Given the description of an element on the screen output the (x, y) to click on. 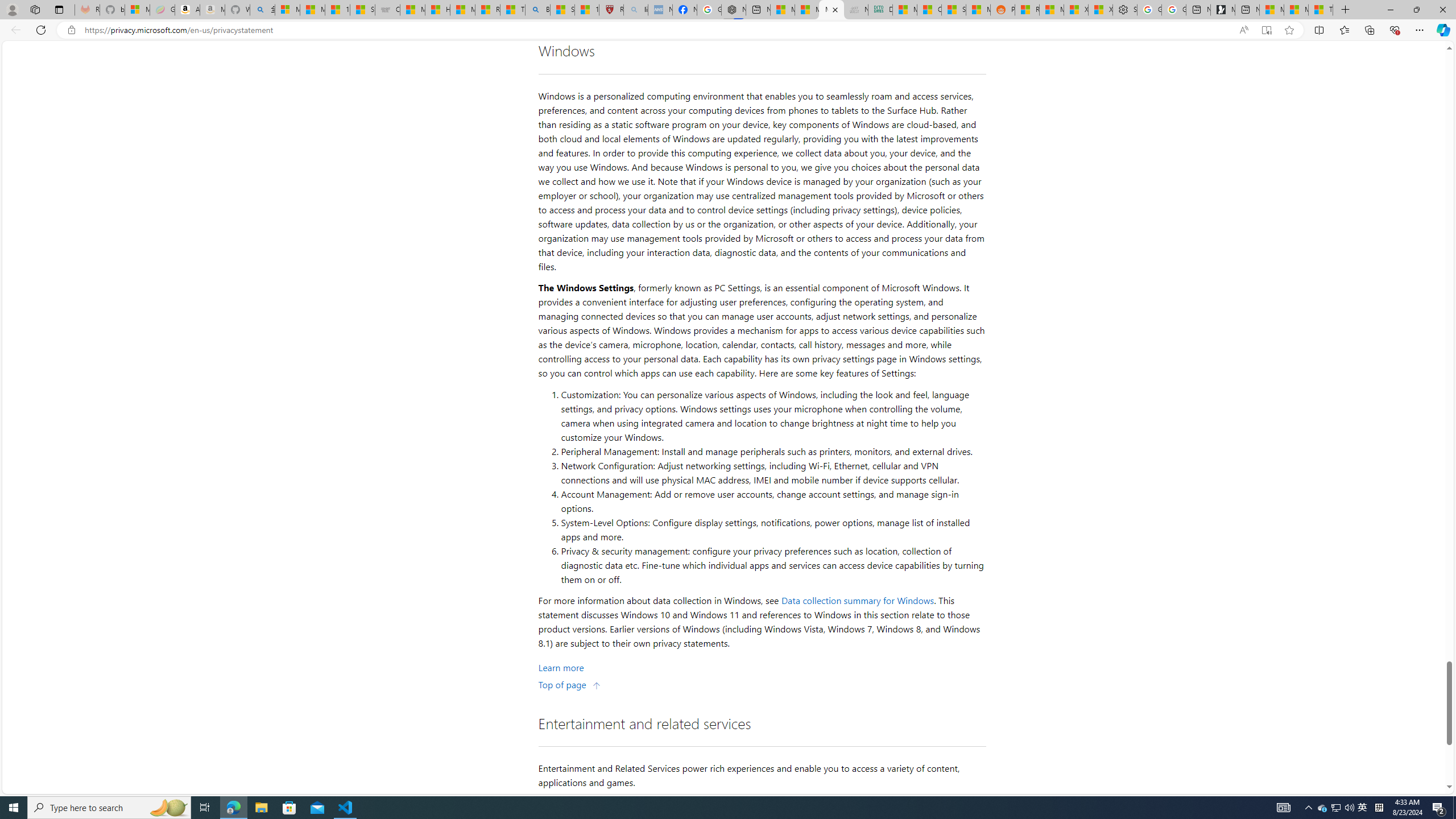
DITOGAMES AG Imprint (879, 9)
Combat Siege (386, 9)
Microsoft Start Gaming (1222, 9)
Bing (536, 9)
